Given the description of an element on the screen output the (x, y) to click on. 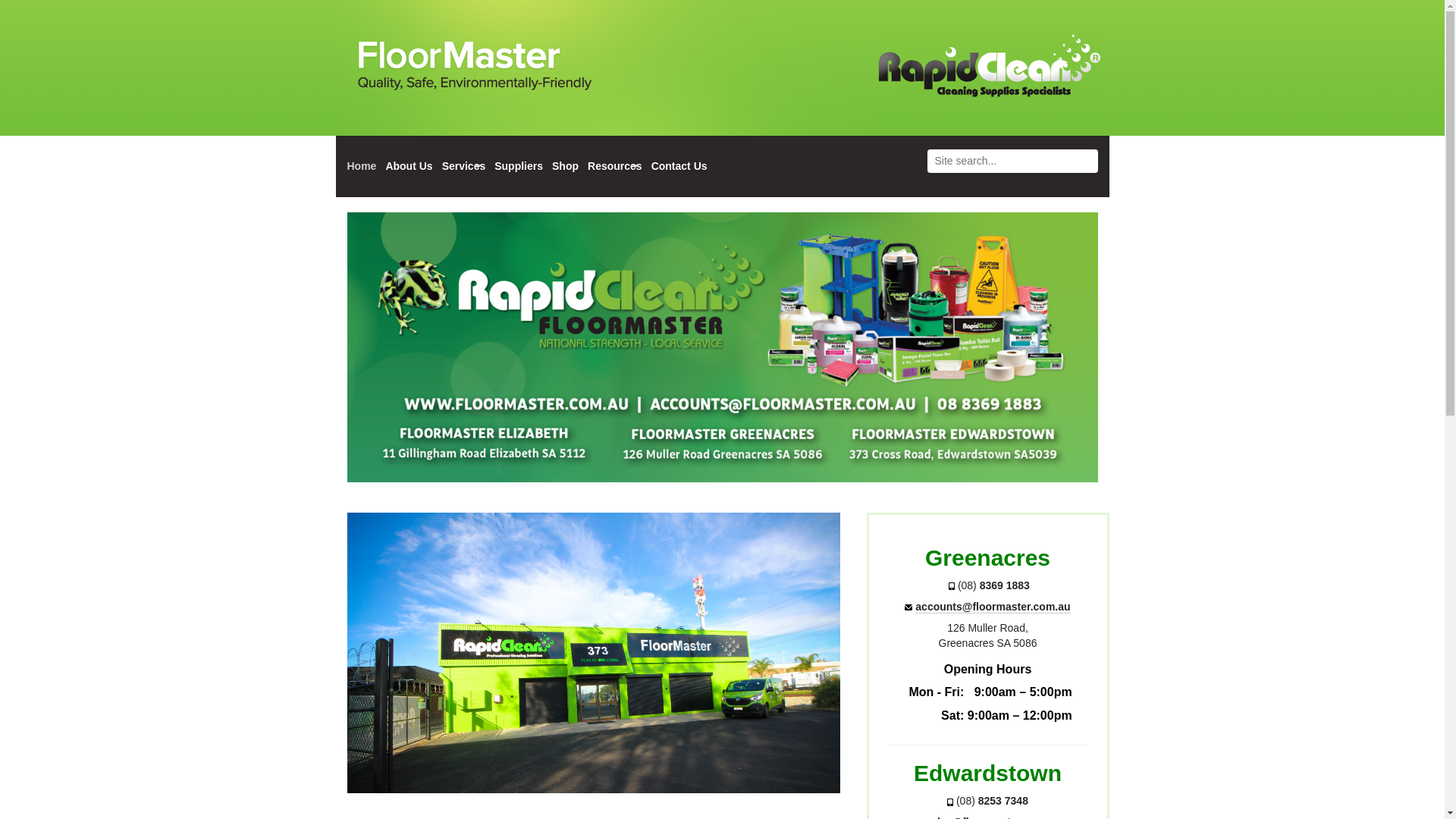
Suppliers Element type: text (518, 166)
Services Element type: text (464, 166)
Resources Element type: text (614, 166)
Contact Us Element type: text (679, 166)
accounts@floormaster.com.au Element type: text (992, 606)
About Us Element type: text (408, 166)
Home Element type: text (361, 166)
Shop Element type: text (565, 166)
